Given the description of an element on the screen output the (x, y) to click on. 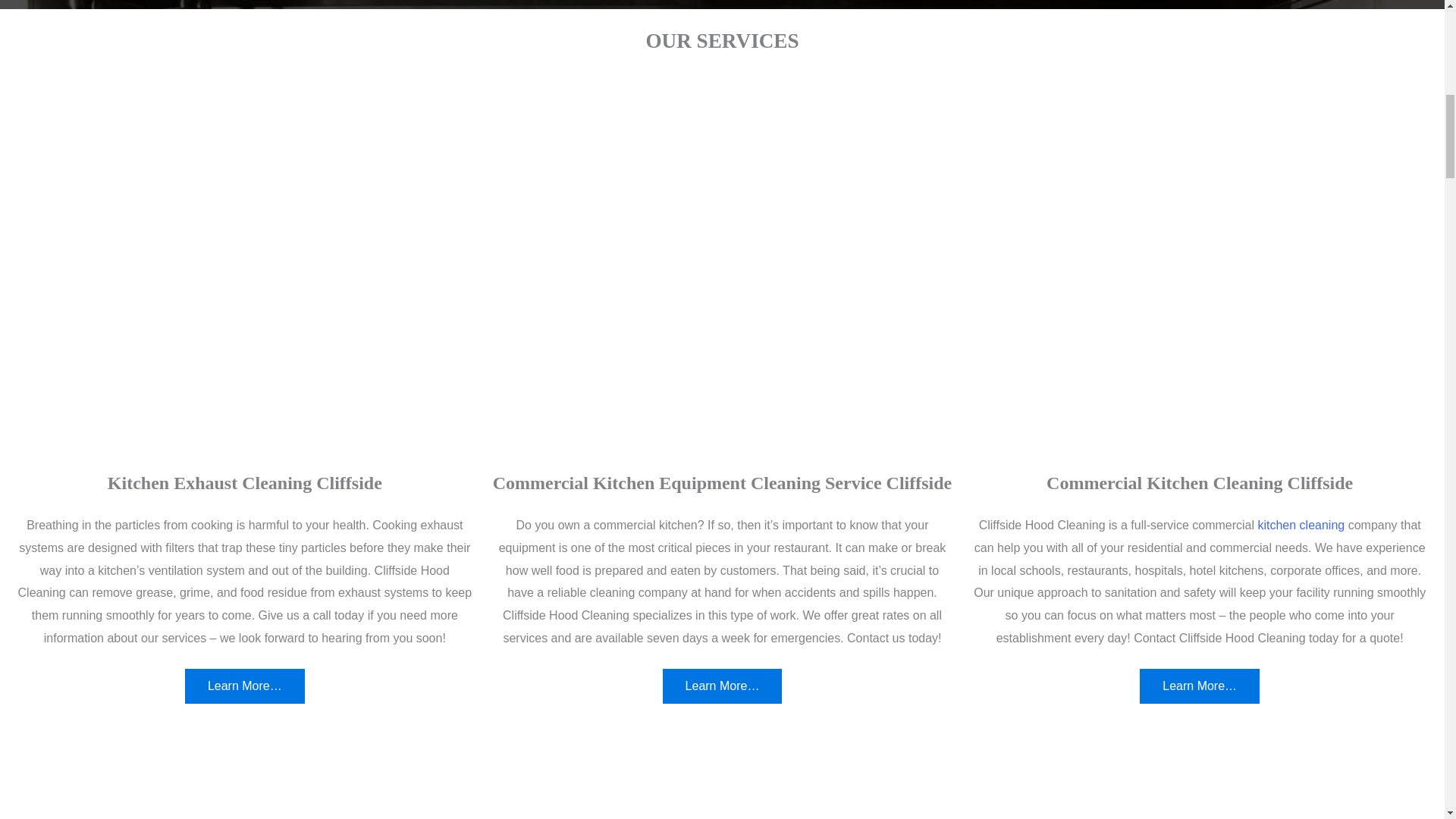
kitchen cleaning (1300, 524)
